Given the description of an element on the screen output the (x, y) to click on. 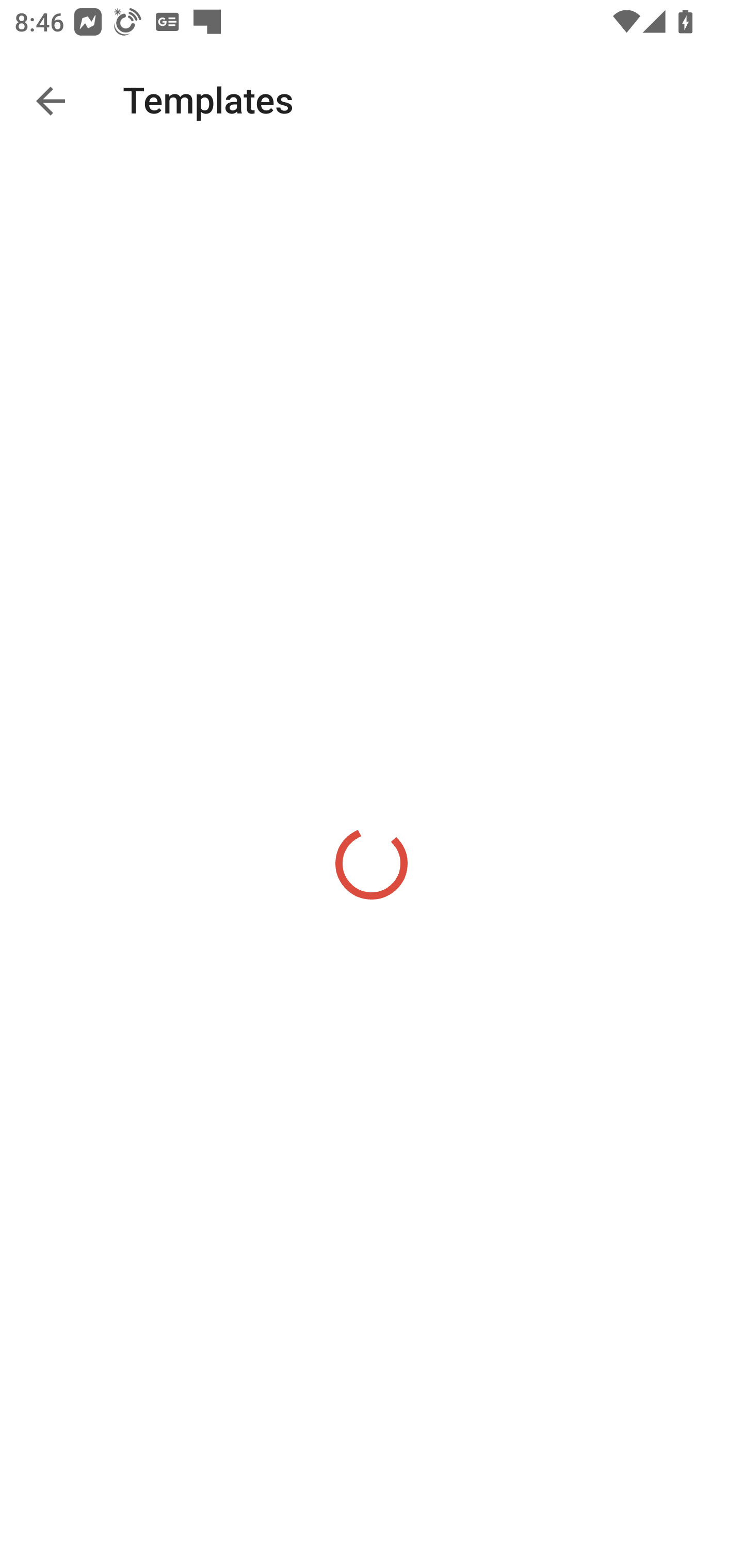
Back (50, 101)
